Given the description of an element on the screen output the (x, y) to click on. 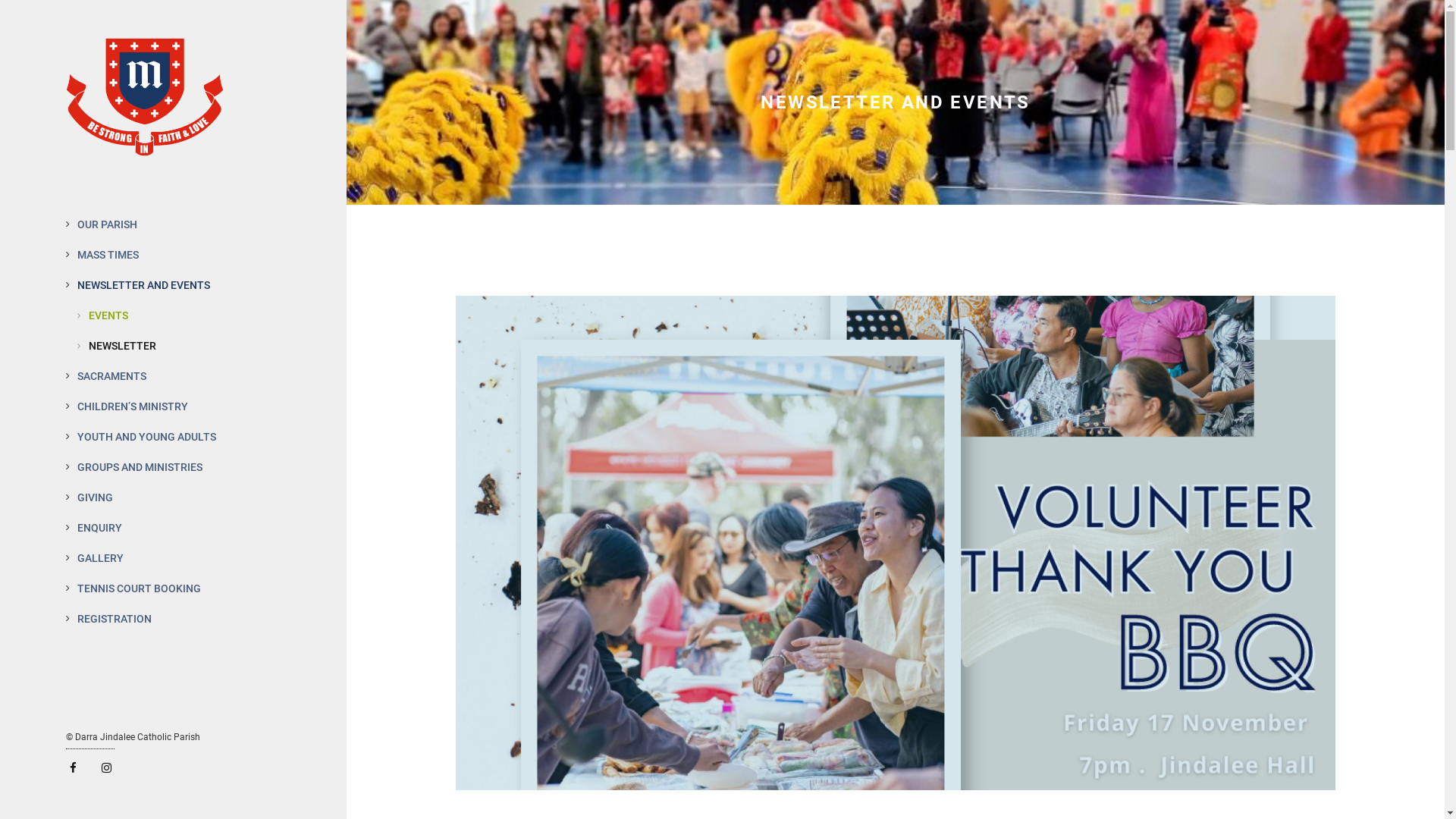
NEWSLETTER AND EVENTS Element type: text (178, 284)
OUR PARISH Element type: text (178, 224)
SACRAMENTS Element type: text (178, 375)
GIVING Element type: text (178, 497)
GALLERY Element type: text (178, 557)
YOUTH AND YOUNG ADULTS Element type: text (178, 436)
EVENTS Element type: text (184, 315)
MASS TIMES Element type: text (178, 254)
GROUPS AND MINISTRIES Element type: text (178, 466)
Darra Jindalee Catholic Parish | Home Element type: hover (144, 144)
NEWSLETTER Element type: text (184, 345)
TENNIS COURT BOOKING Element type: text (178, 588)
REGISTRATION Element type: text (178, 618)
ENQUIRY Element type: text (178, 527)
